Given the description of an element on the screen output the (x, y) to click on. 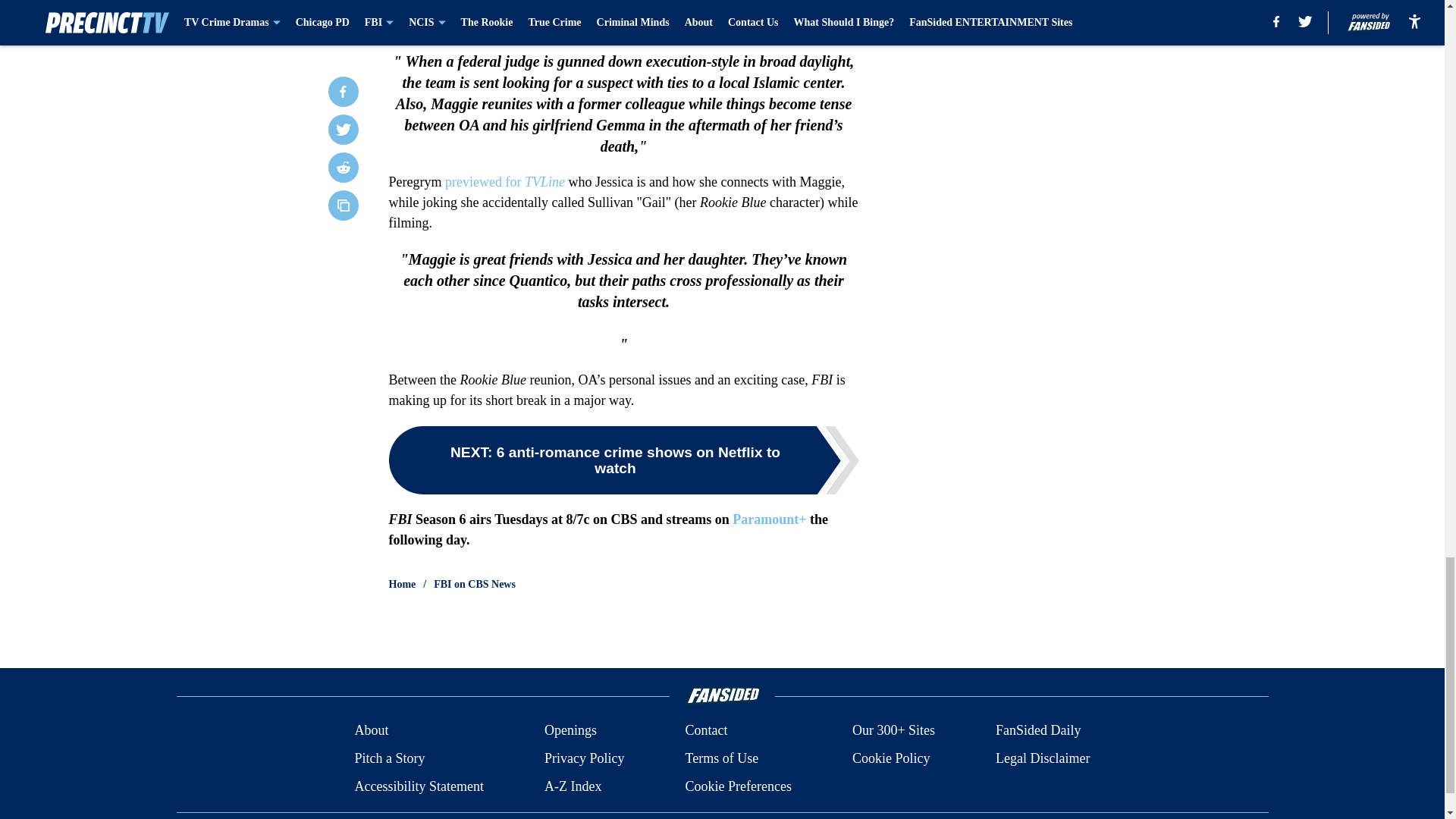
Home (401, 584)
NEXT: 6 anti-romance crime shows on Netflix to watch (623, 459)
About (370, 730)
previewed for TVLine (504, 181)
FBI on CBS News (474, 584)
